Given the description of an element on the screen output the (x, y) to click on. 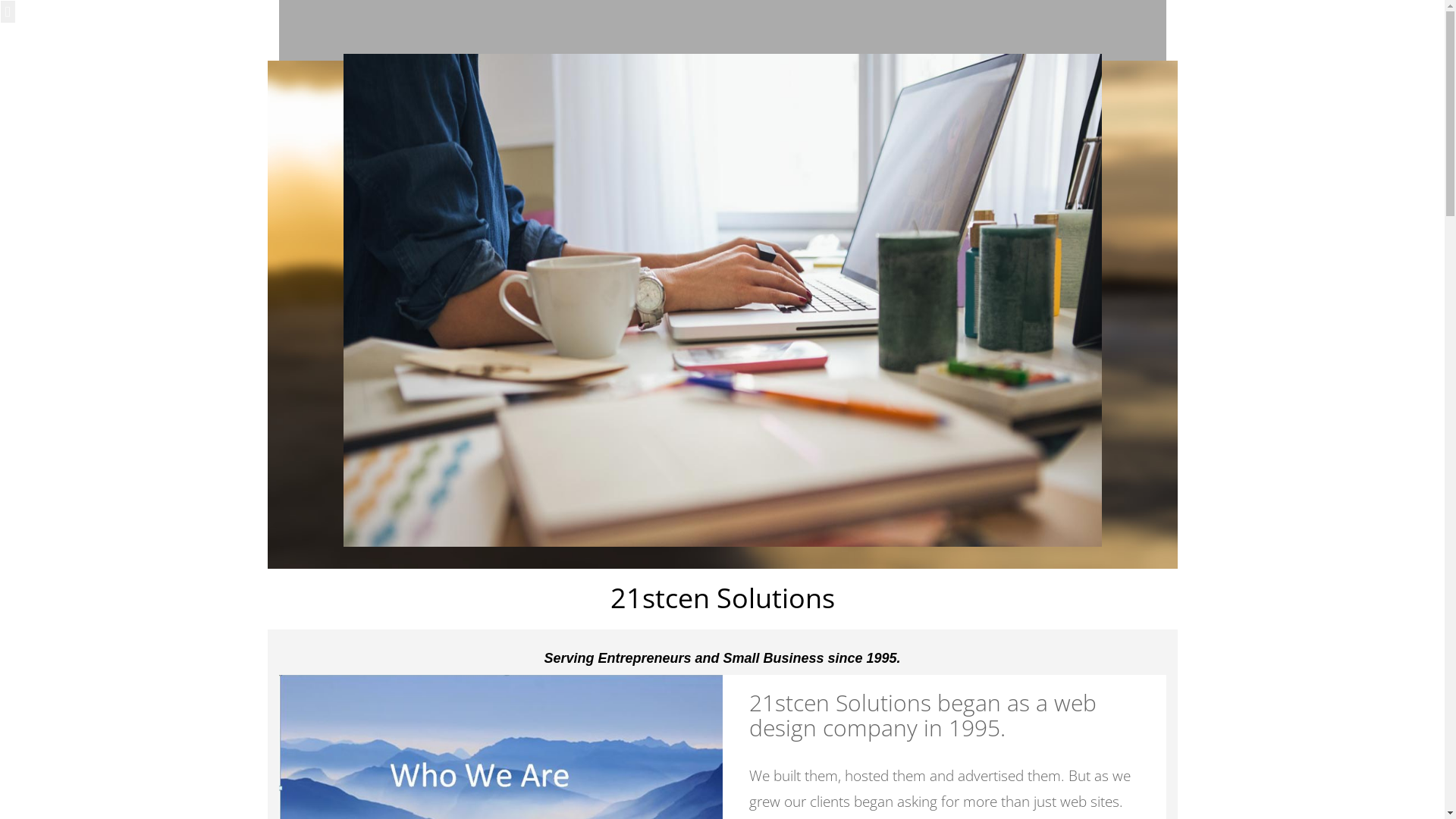
Begin Element type: text (721, 757)
